Given the description of an element on the screen output the (x, y) to click on. 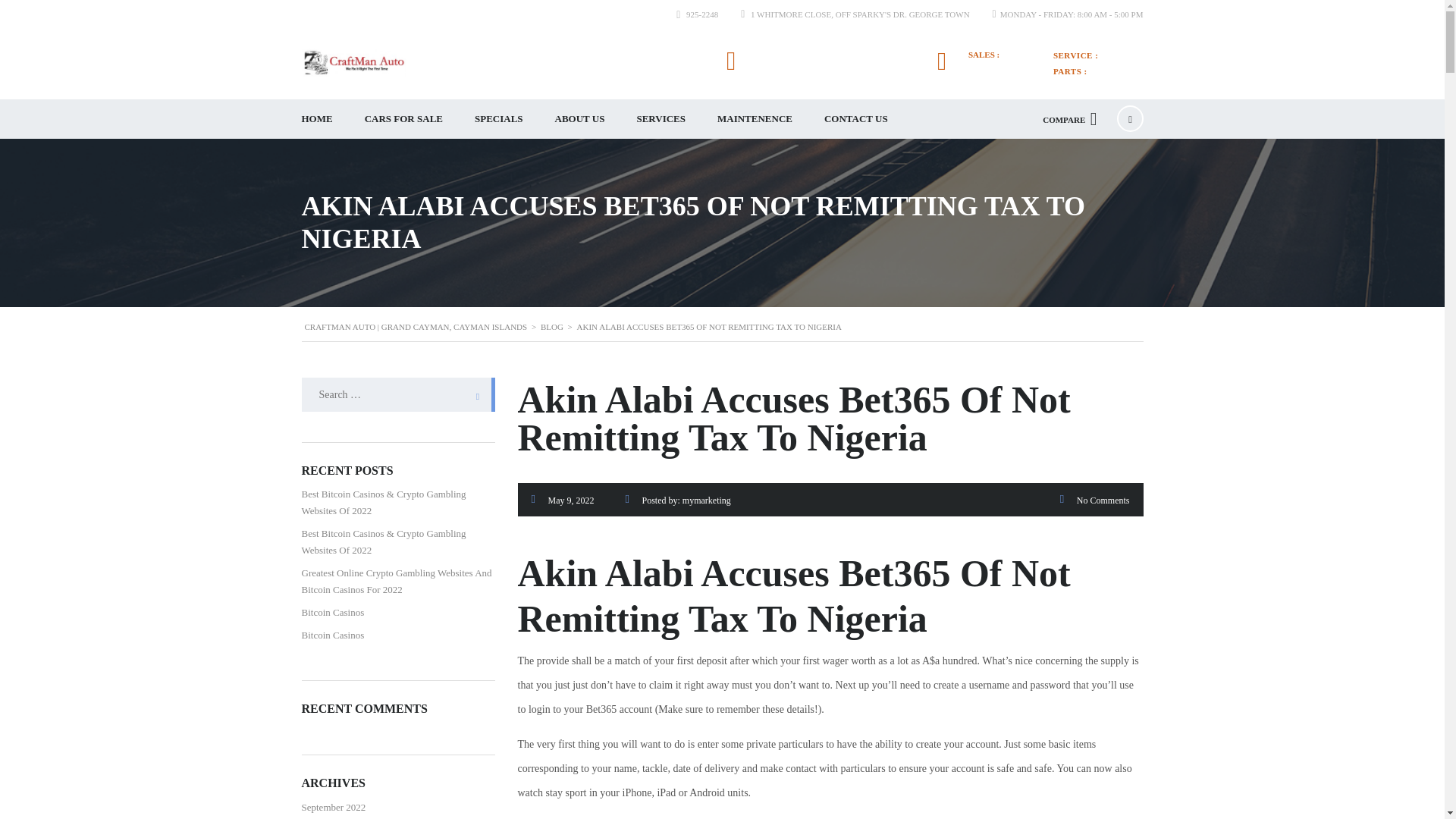
HOME (316, 118)
CARS FOR SALE (403, 118)
MAINTENENCE (754, 118)
925-2248 (701, 13)
COMPARE (1069, 118)
SPECIALS (498, 118)
ABOUT US (579, 118)
No Comments (1103, 500)
Search (473, 394)
Go to the Blog Category archives. (551, 326)
Watch compared (1069, 118)
925-2248 (995, 67)
Home (353, 62)
CONTACT US (856, 118)
BLOG (551, 326)
